Given the description of an element on the screen output the (x, y) to click on. 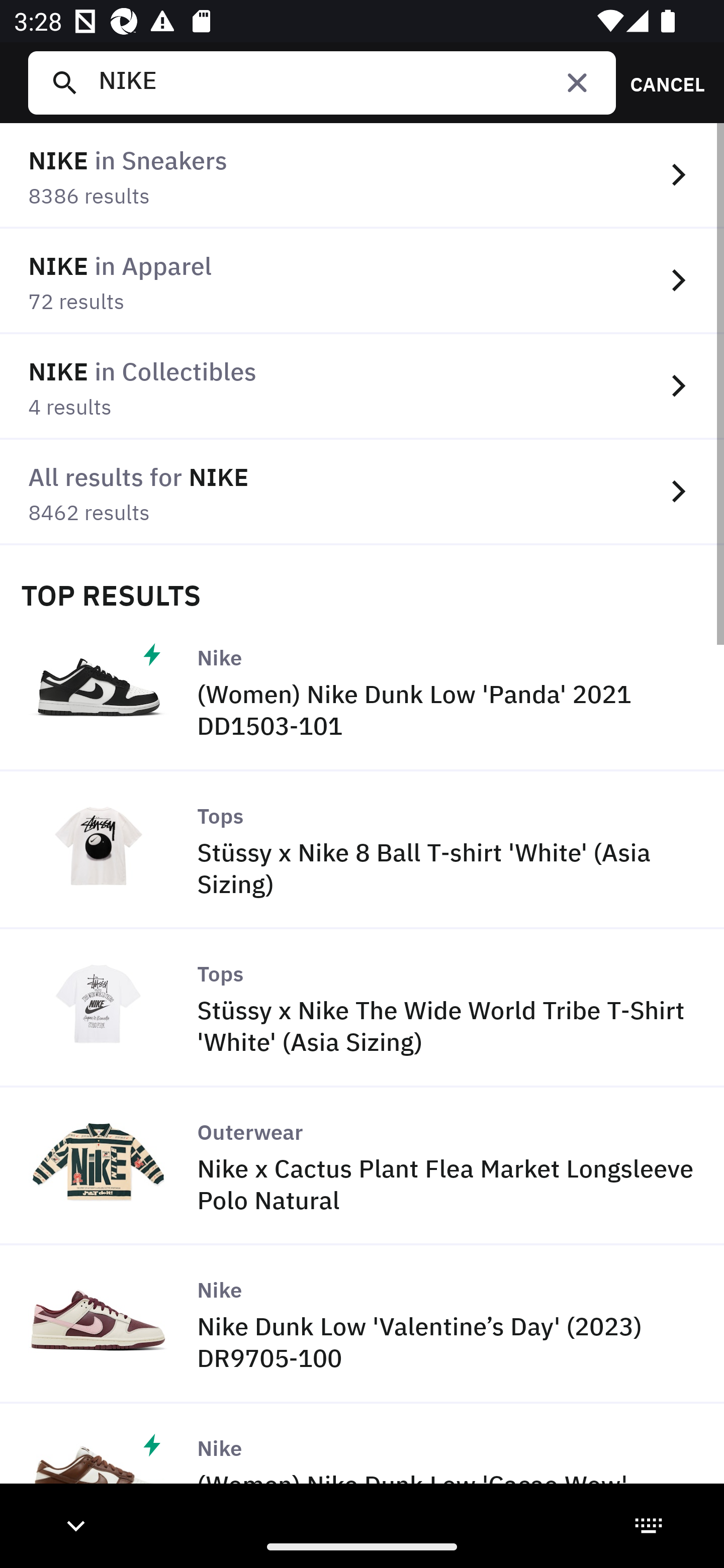
CANCEL (660, 82)
NIKE (349, 82)
 (577, 82)
NIKE  in Sneakers 8386 results  (362, 175)
NIKE  in Apparel 72 results  (362, 280)
NIKE  in Collectibles 4 results  (362, 386)
All results for  NIKE 8462 results  (362, 492)
